Given the description of an element on the screen output the (x, y) to click on. 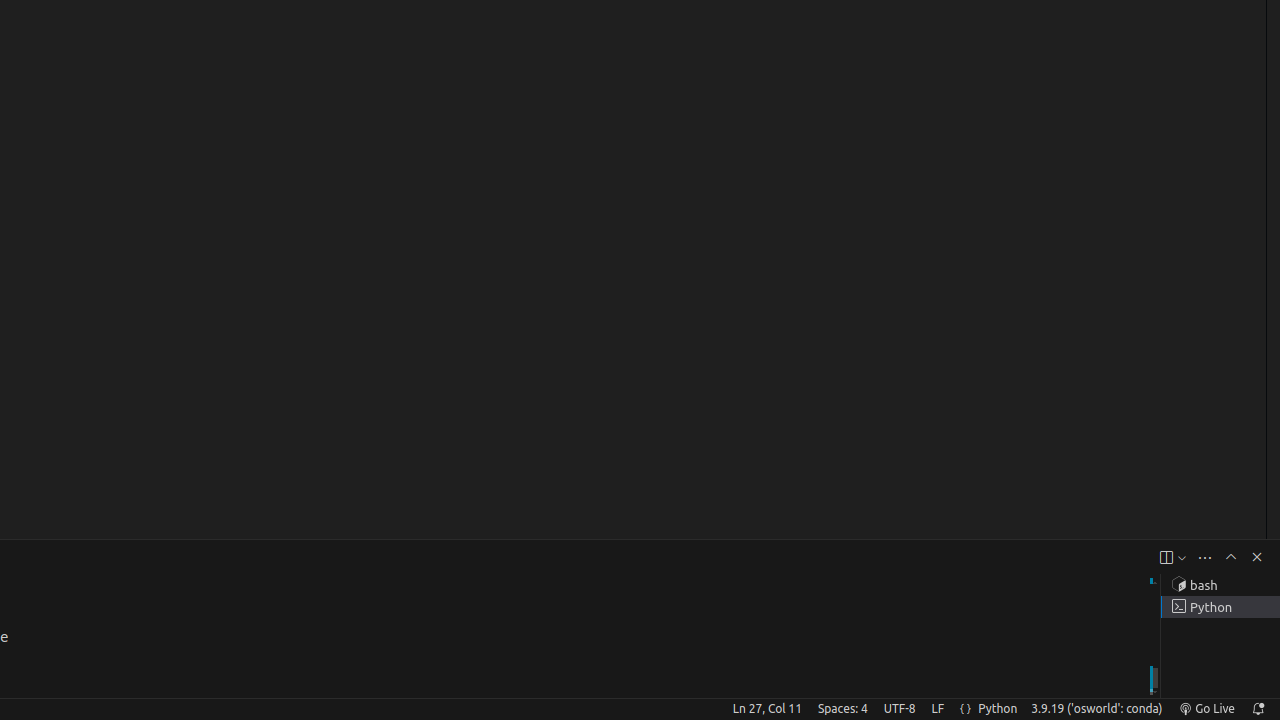
Terminal 5 Python Element type: list-item (1220, 607)
Views and More Actions... Element type: push-button (1205, 557)
Ln 27, Col 11 Element type: push-button (767, 709)
Launch Profile... Element type: push-button (1182, 557)
Python Element type: push-button (998, 709)
